Given the description of an element on the screen output the (x, y) to click on. 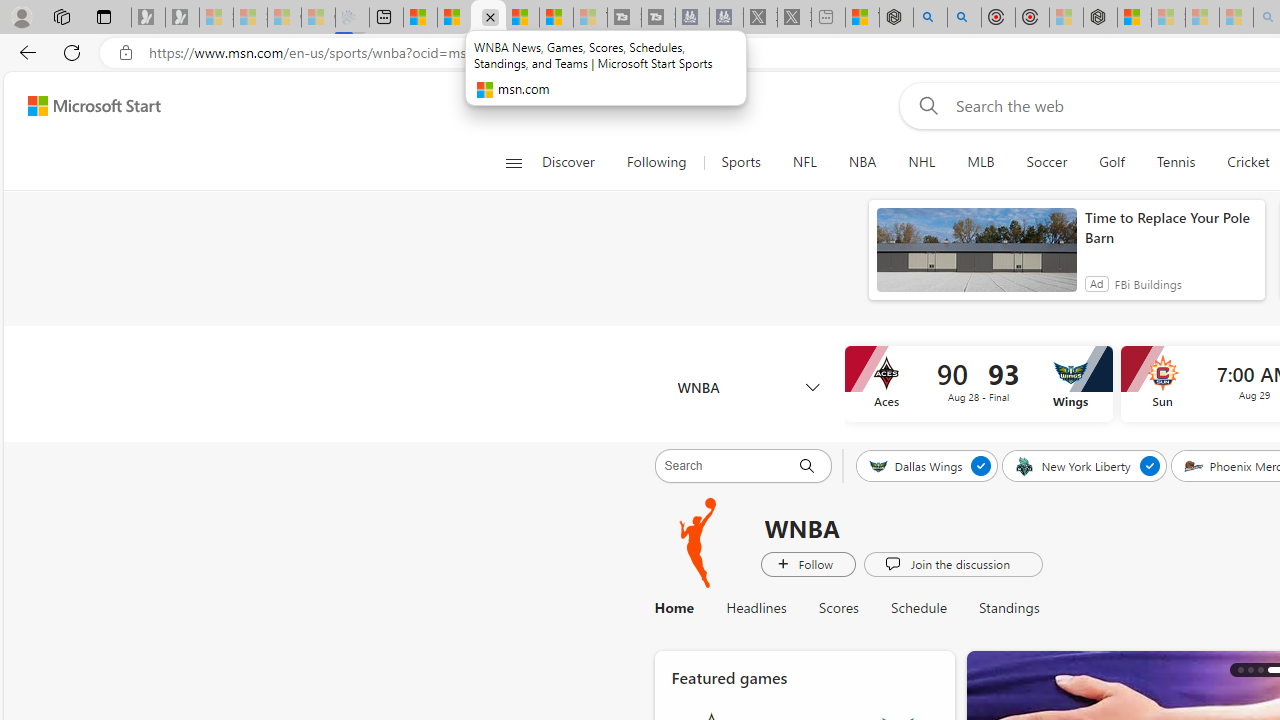
Sports (740, 162)
Golf (1111, 162)
NHL (921, 162)
NBA (862, 162)
poe - Search (930, 17)
NFL (804, 162)
Standings (1009, 607)
